Given the description of an element on the screen output the (x, y) to click on. 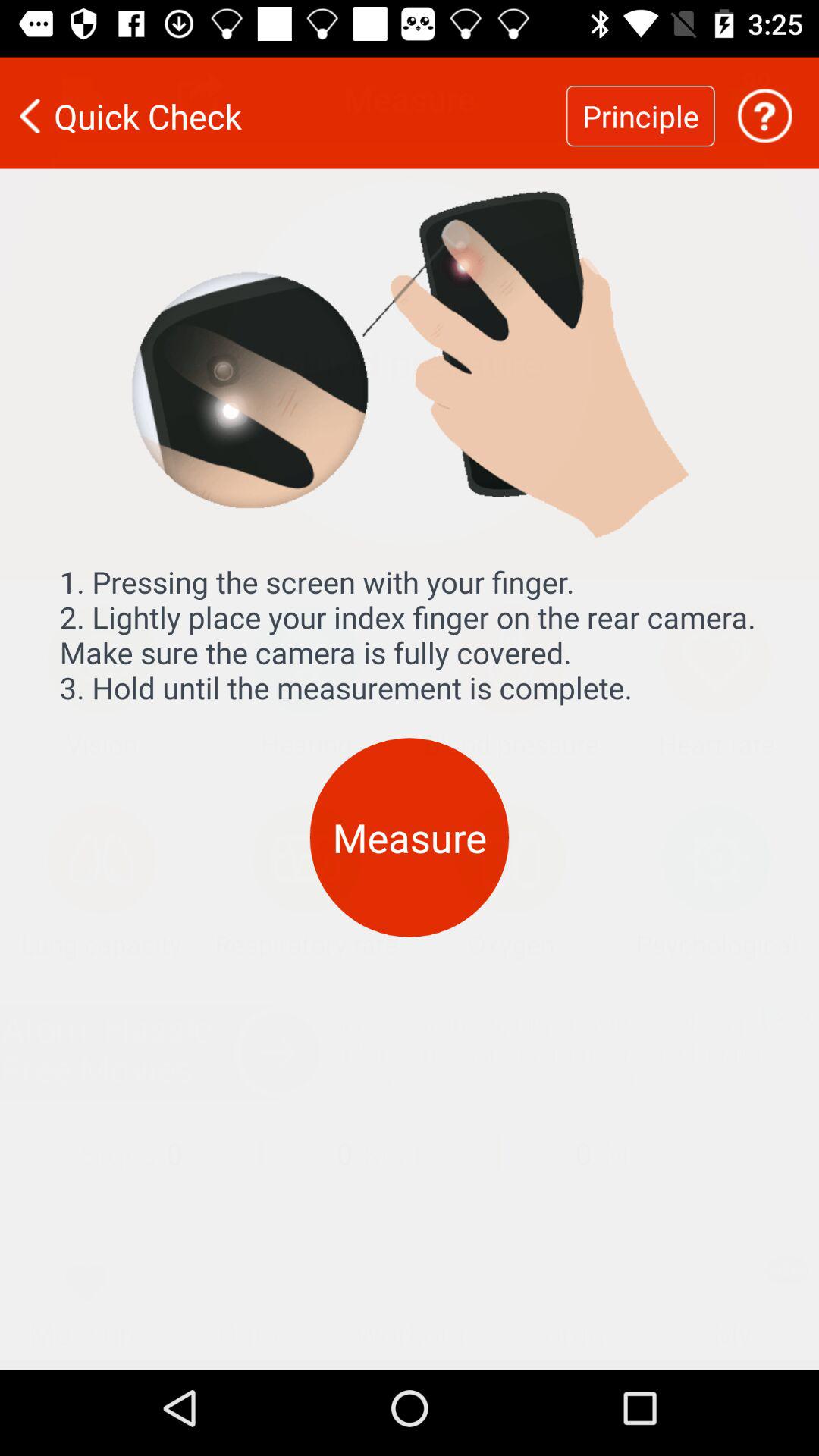
open the item next to principle icon (764, 106)
